Given the description of an element on the screen output the (x, y) to click on. 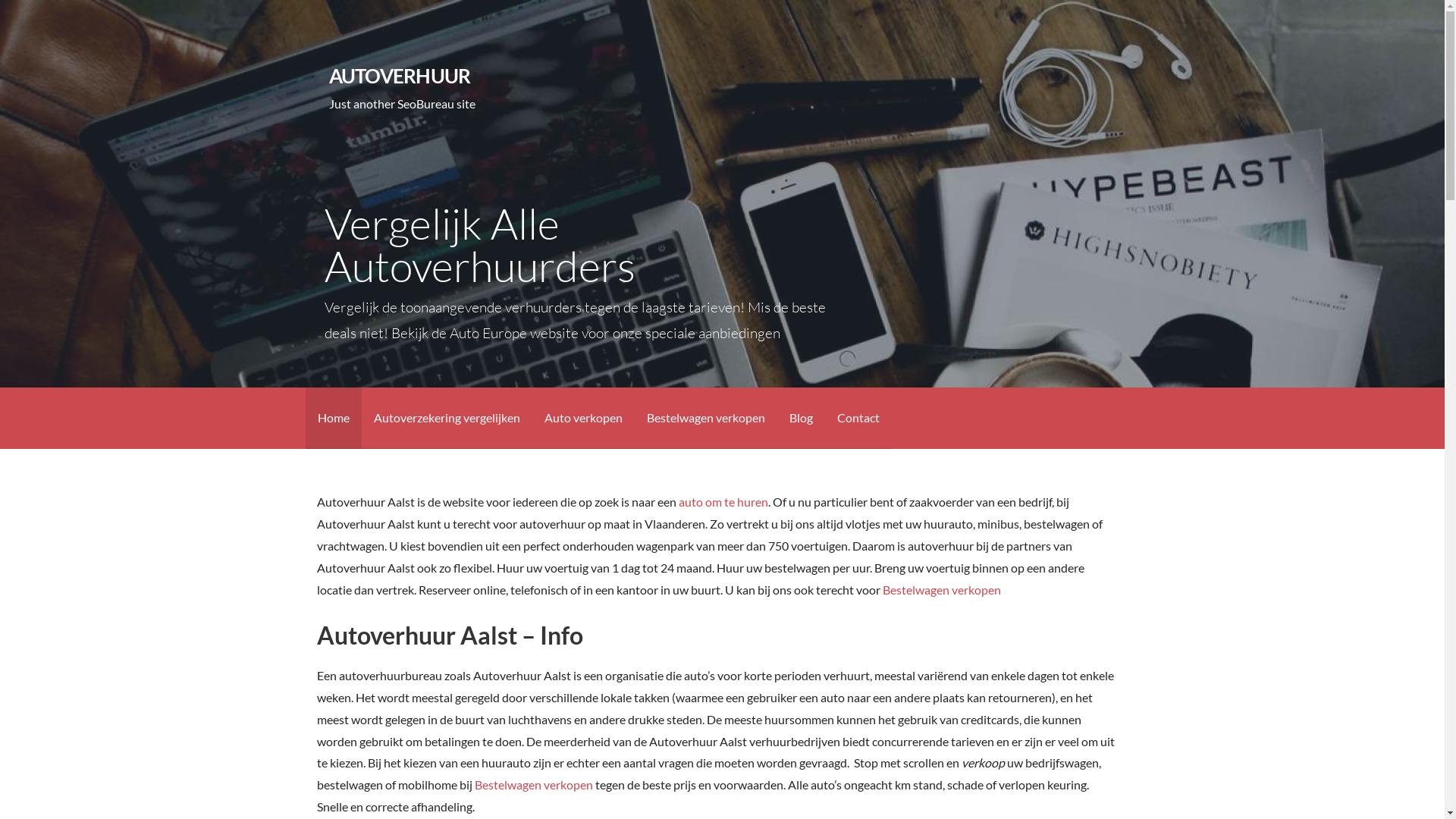
Auto verkopen Element type: text (583, 417)
Bestelwagen verkopen Element type: text (704, 417)
Contact Element type: text (858, 417)
Bestelwagen verkopen  Element type: text (942, 589)
Bestelwagen verkopen Element type: text (533, 784)
Home Element type: text (332, 417)
AUTOVERHUUR Element type: text (399, 75)
Blog Element type: text (800, 417)
auto om te huren Element type: text (723, 501)
Autoverzekering vergelijken Element type: text (445, 417)
